Given the description of an element on the screen output the (x, y) to click on. 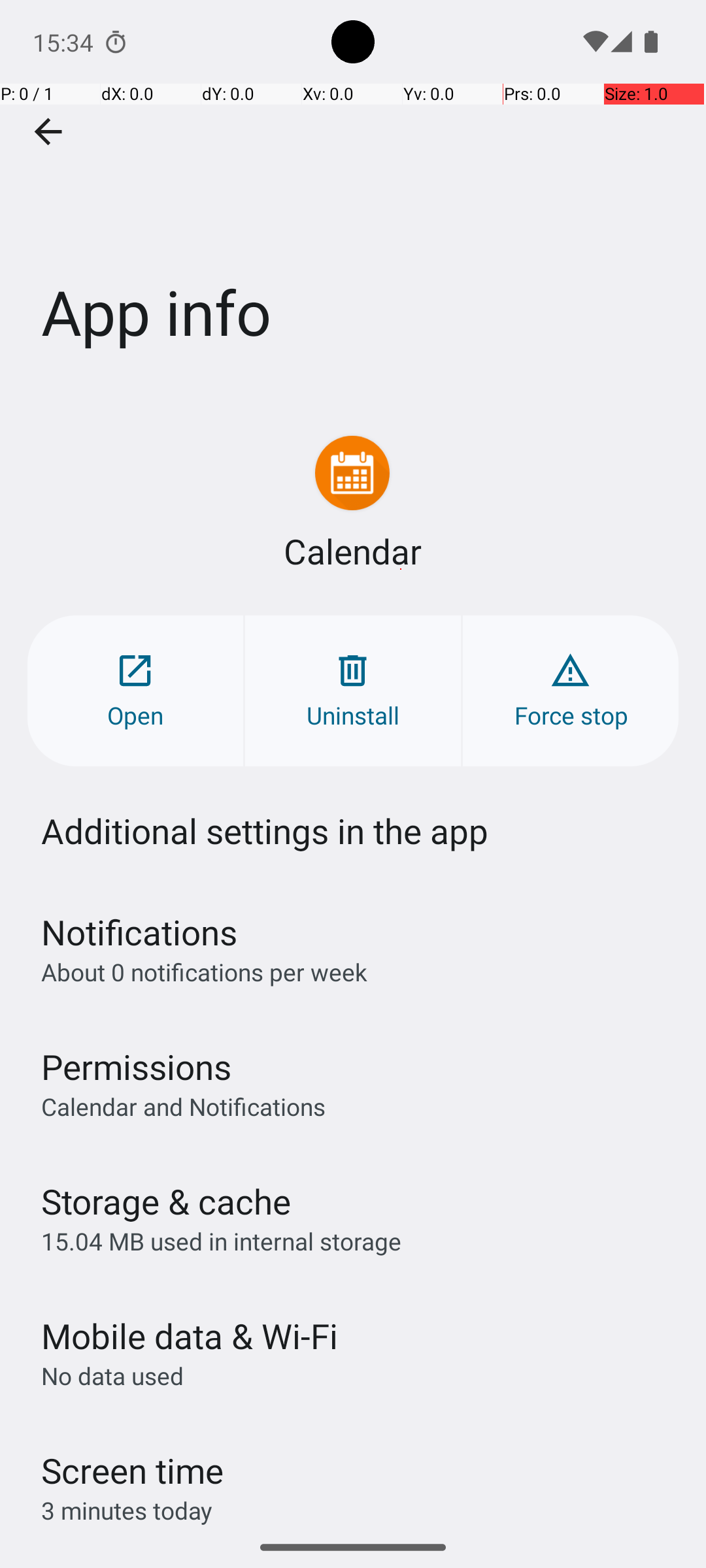
Calendar and Notifications Element type: android.widget.TextView (183, 1106)
15.04 MB used in internal storage Element type: android.widget.TextView (221, 1240)
3 minutes today Element type: android.widget.TextView (127, 1509)
